Given the description of an element on the screen output the (x, y) to click on. 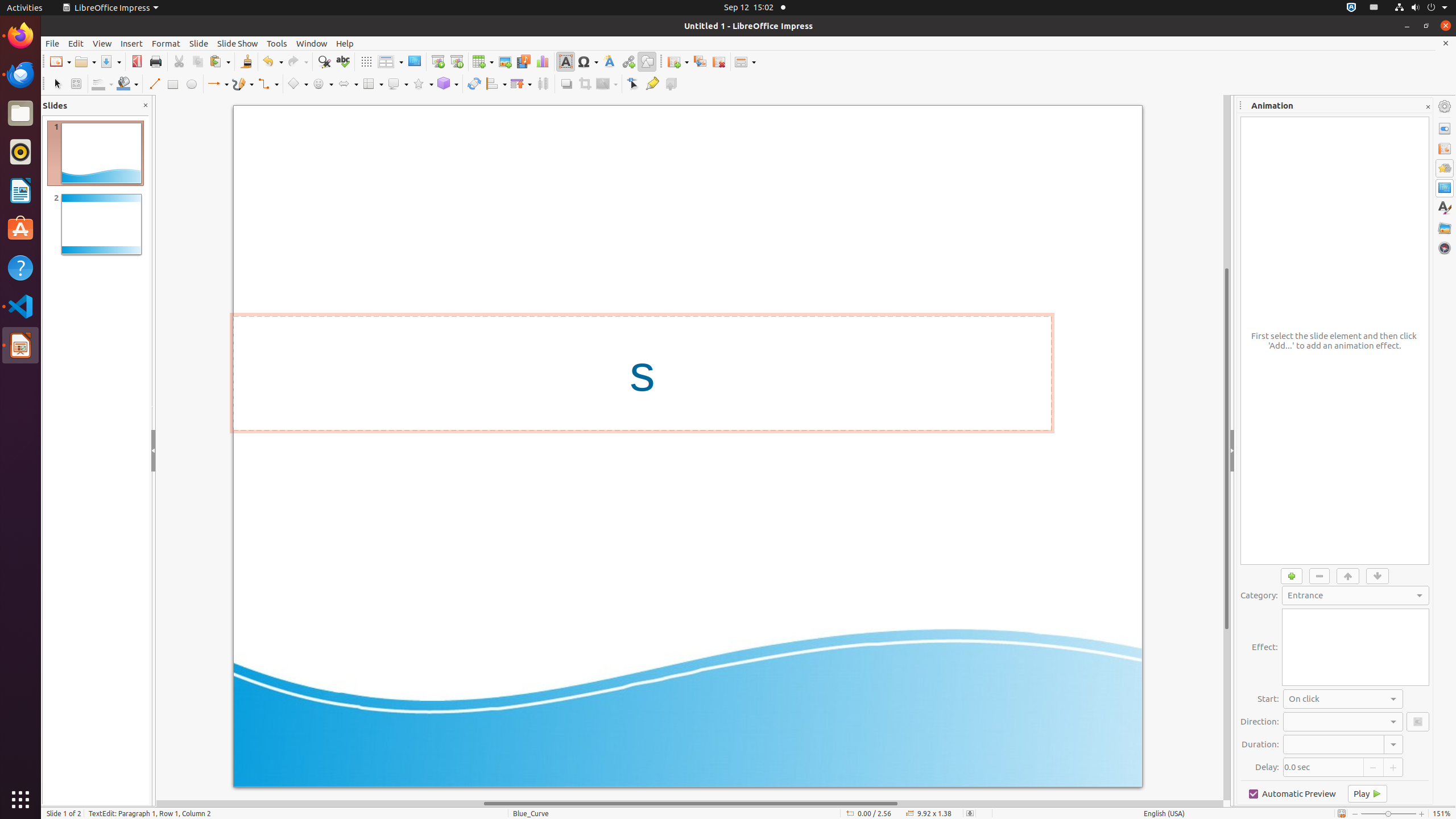
Ellipse Element type: push-button (191, 83)
Start: Element type: combo-box (1343, 698)
File Element type: menu (51, 43)
Edit Points Element type: push-button (632, 83)
Master Slide Element type: push-button (413, 61)
